Given the description of an element on the screen output the (x, y) to click on. 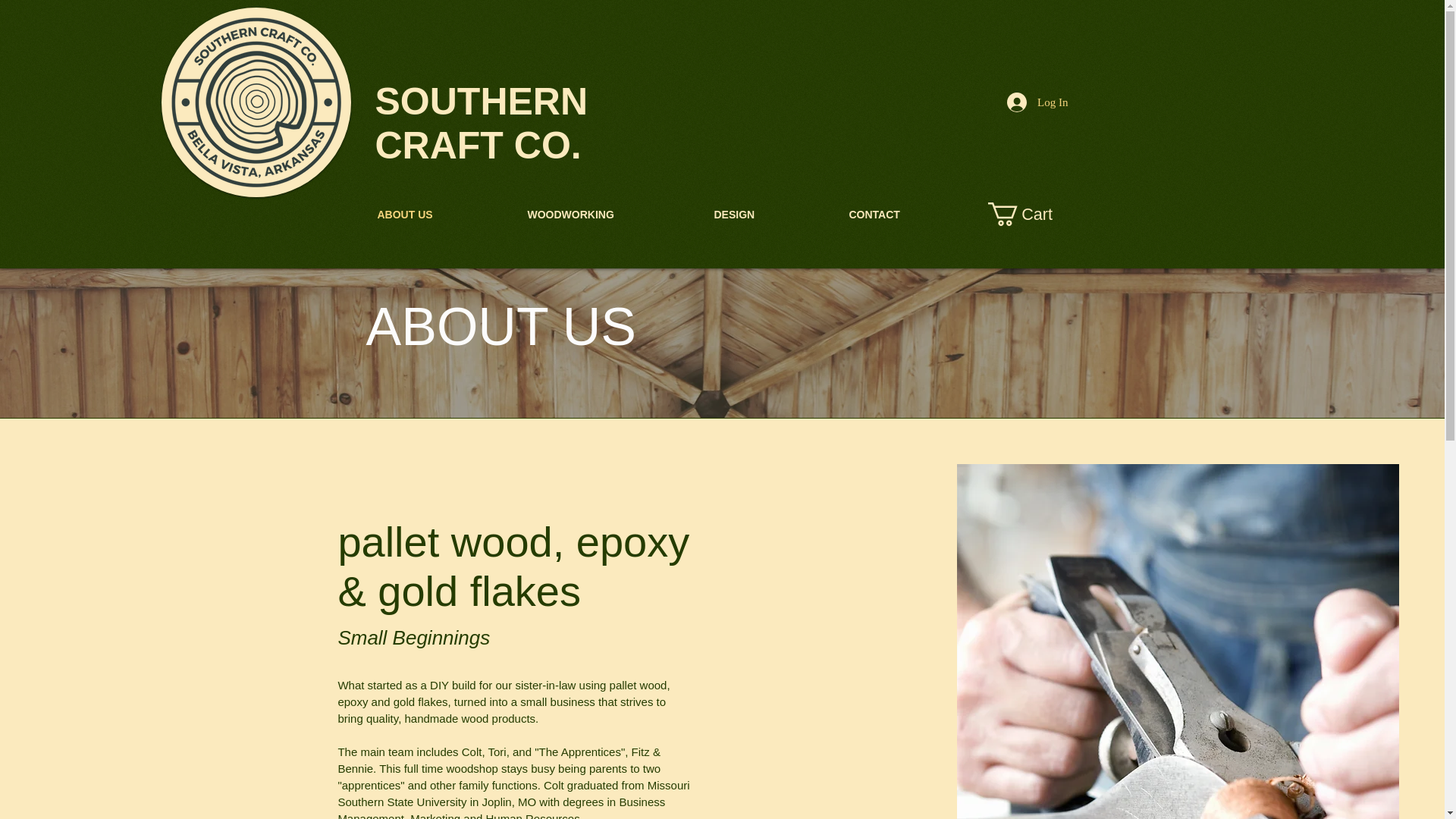
Cart (1032, 214)
CONTACT (912, 214)
Cart (1032, 214)
ABOUT US (440, 214)
SOUTHERN CRAFT CO. (481, 123)
Log In (1036, 102)
Green and Beige Light Bulb Vintage Badge (255, 102)
WOODWORKING (608, 214)
DESIGN (769, 214)
